Given the description of an element on the screen output the (x, y) to click on. 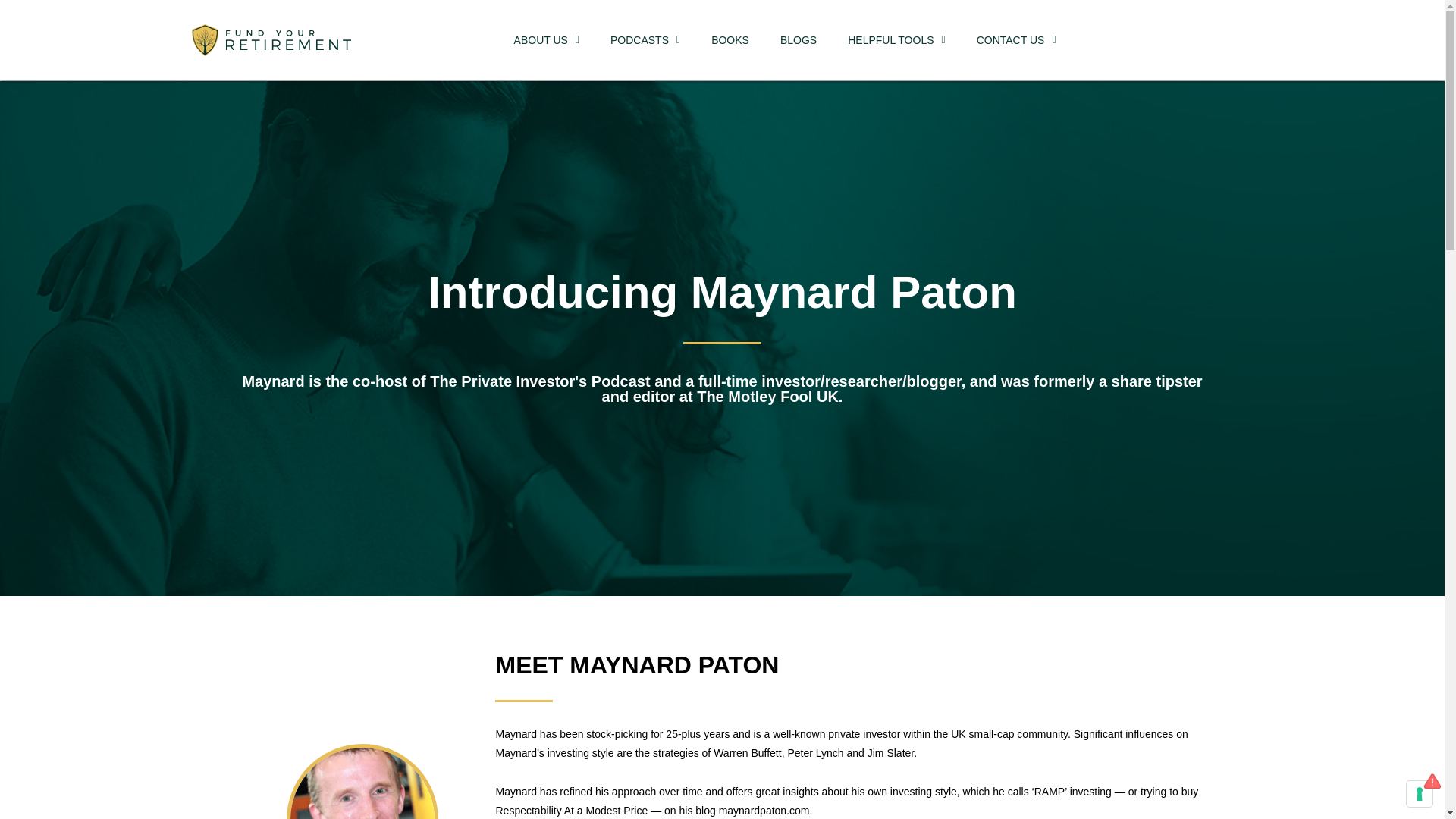
BOOKS (729, 39)
PODCASTS (645, 39)
CONTACT US (1015, 39)
ABOUT US (546, 39)
HELPFUL TOOLS (895, 39)
BLOGS (798, 39)
